Given the description of an element on the screen output the (x, y) to click on. 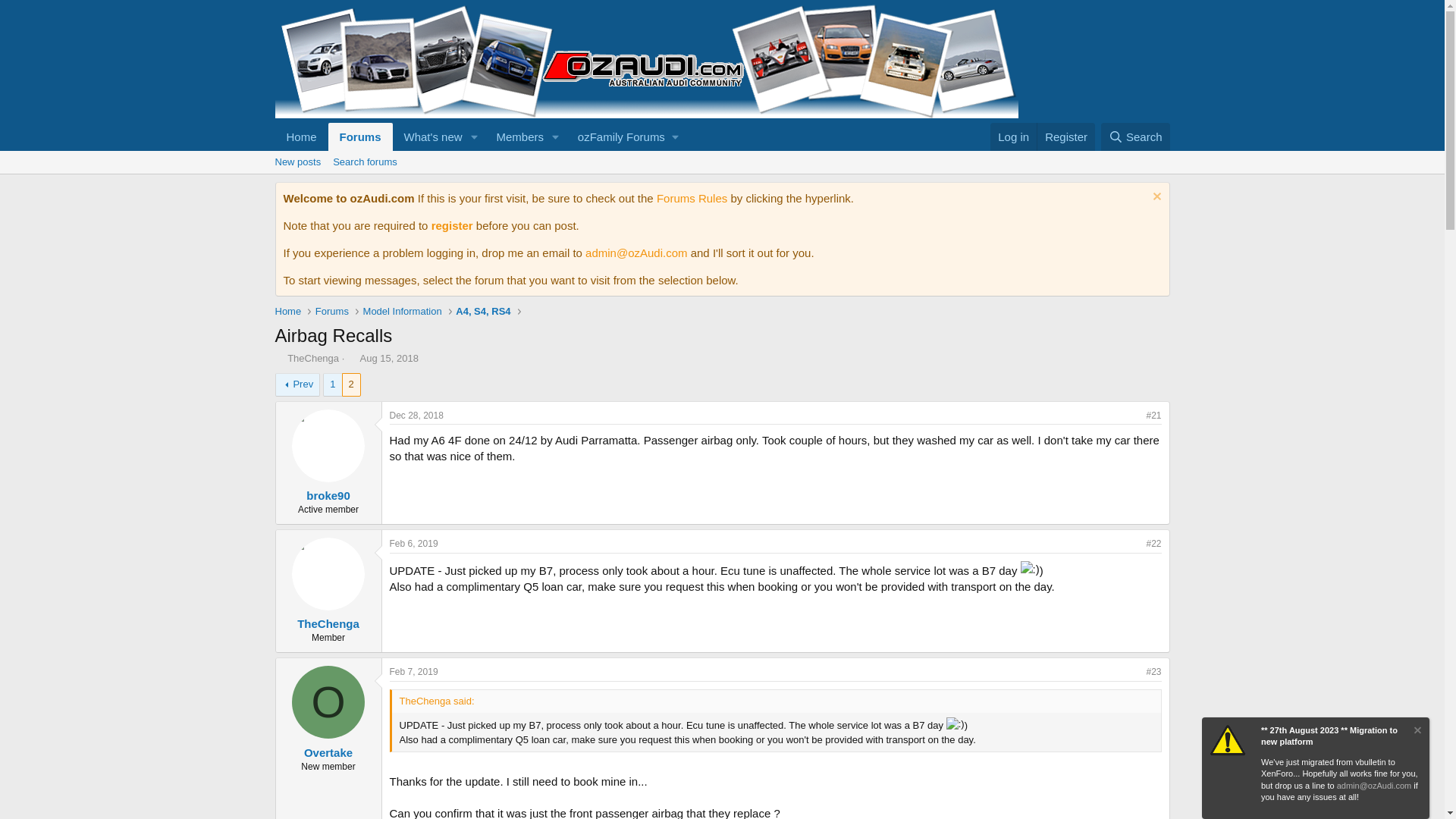
Log in (480, 136)
Forums (1013, 136)
Start date (361, 136)
Feb 6, 2019 at 3:35 PM (720, 179)
Feb 7, 2019 at 11:40 PM (351, 357)
register (414, 543)
Home (414, 671)
Home (451, 225)
